Given the description of an element on the screen output the (x, y) to click on. 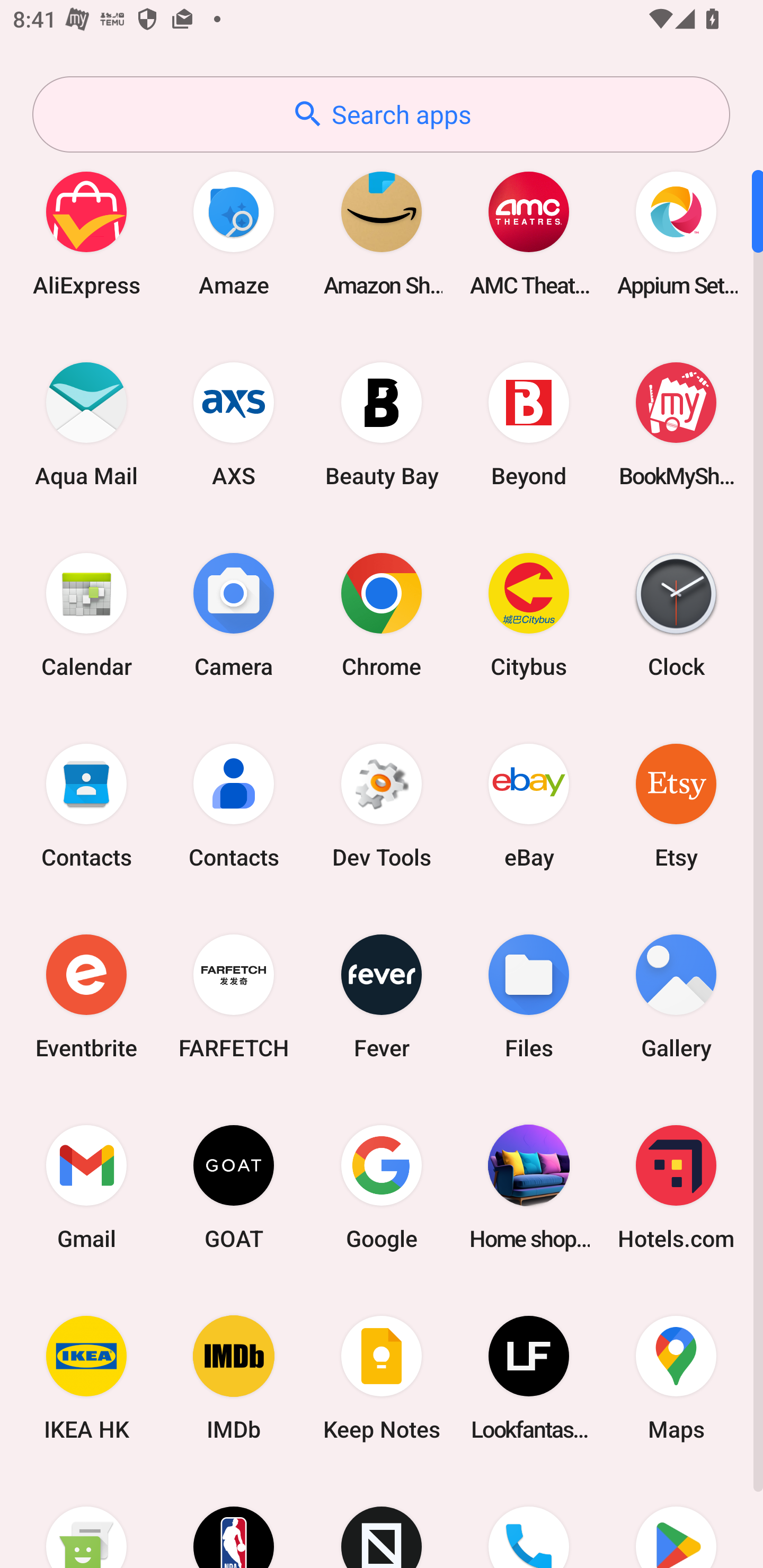
  Search apps (381, 114)
AliExpress (86, 233)
Amaze (233, 233)
Amazon Shopping (381, 233)
AMC Theatres (528, 233)
Appium Settings (676, 233)
Aqua Mail (86, 424)
AXS (233, 424)
Beauty Bay (381, 424)
Beyond (528, 424)
BookMyShow (676, 424)
Calendar (86, 614)
Camera (233, 614)
Chrome (381, 614)
Citybus (528, 614)
Clock (676, 614)
Contacts (86, 805)
Contacts (233, 805)
Dev Tools (381, 805)
eBay (528, 805)
Etsy (676, 805)
Eventbrite (86, 996)
FARFETCH (233, 996)
Fever (381, 996)
Files (528, 996)
Gallery (676, 996)
Gmail (86, 1186)
GOAT (233, 1186)
Google (381, 1186)
Home shopping (528, 1186)
Hotels.com (676, 1186)
IKEA HK (86, 1377)
IMDb (233, 1377)
Keep Notes (381, 1377)
Lookfantastic (528, 1377)
Maps (676, 1377)
Messaging (86, 1520)
NBA (233, 1520)
Novelship (381, 1520)
Phone (528, 1520)
Play Store (676, 1520)
